Given the description of an element on the screen output the (x, y) to click on. 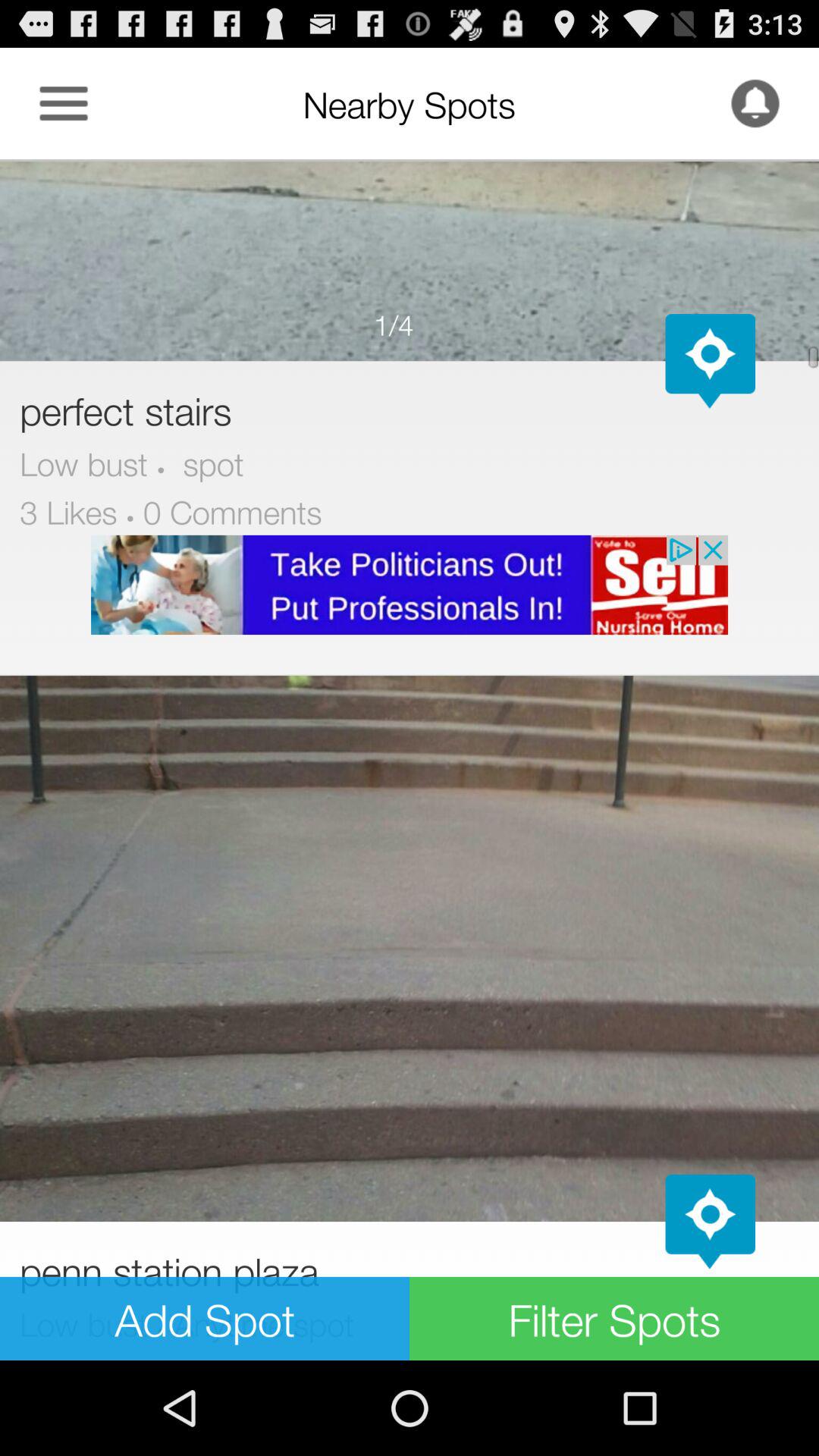
view map (710, 1221)
